Given the description of an element on the screen output the (x, y) to click on. 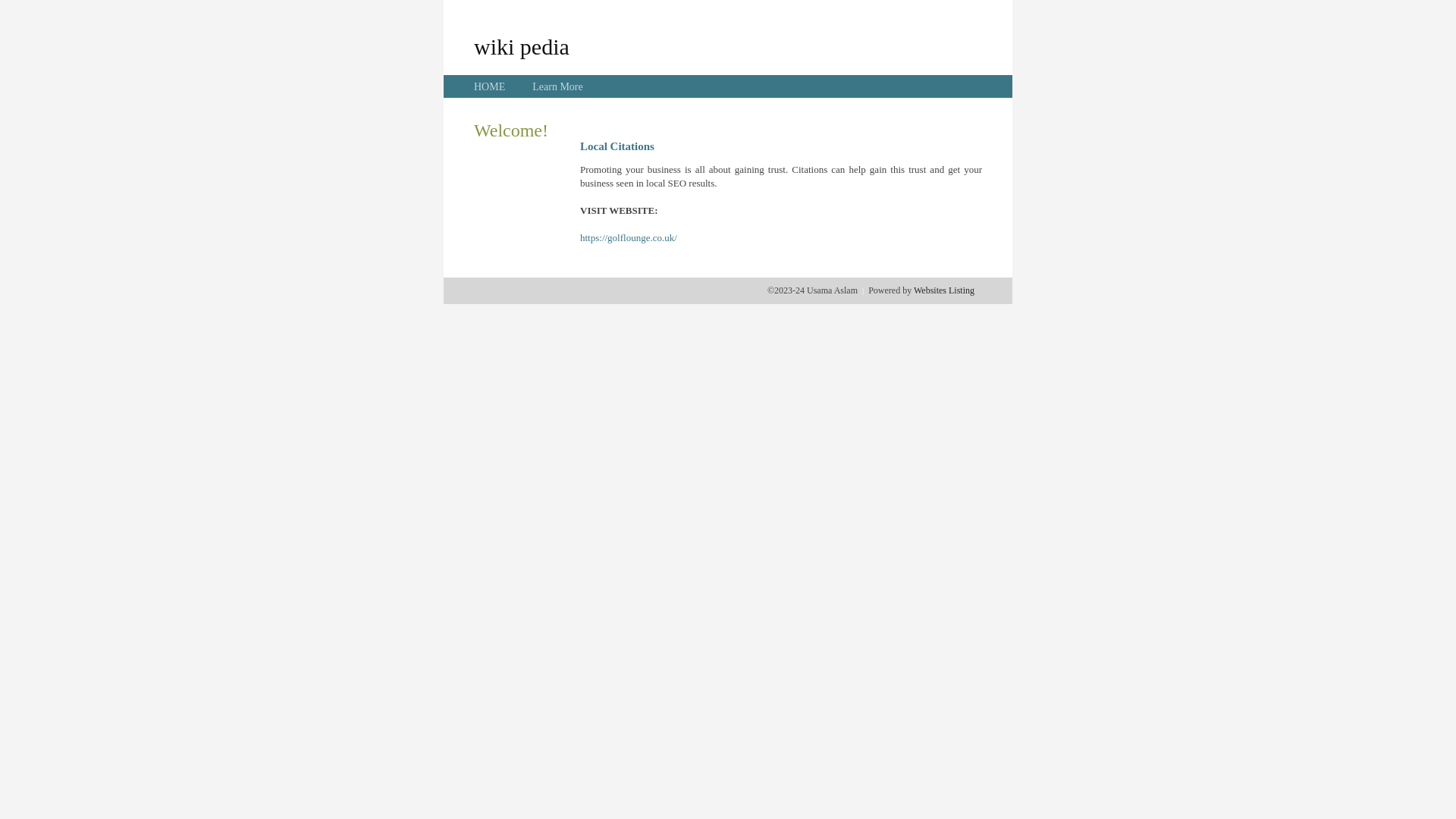
https://golflounge.co.uk/ Element type: text (628, 237)
wiki pedia Element type: text (521, 46)
Websites Listing Element type: text (943, 290)
HOME Element type: text (489, 86)
Learn More Element type: text (557, 86)
